Given the description of an element on the screen output the (x, y) to click on. 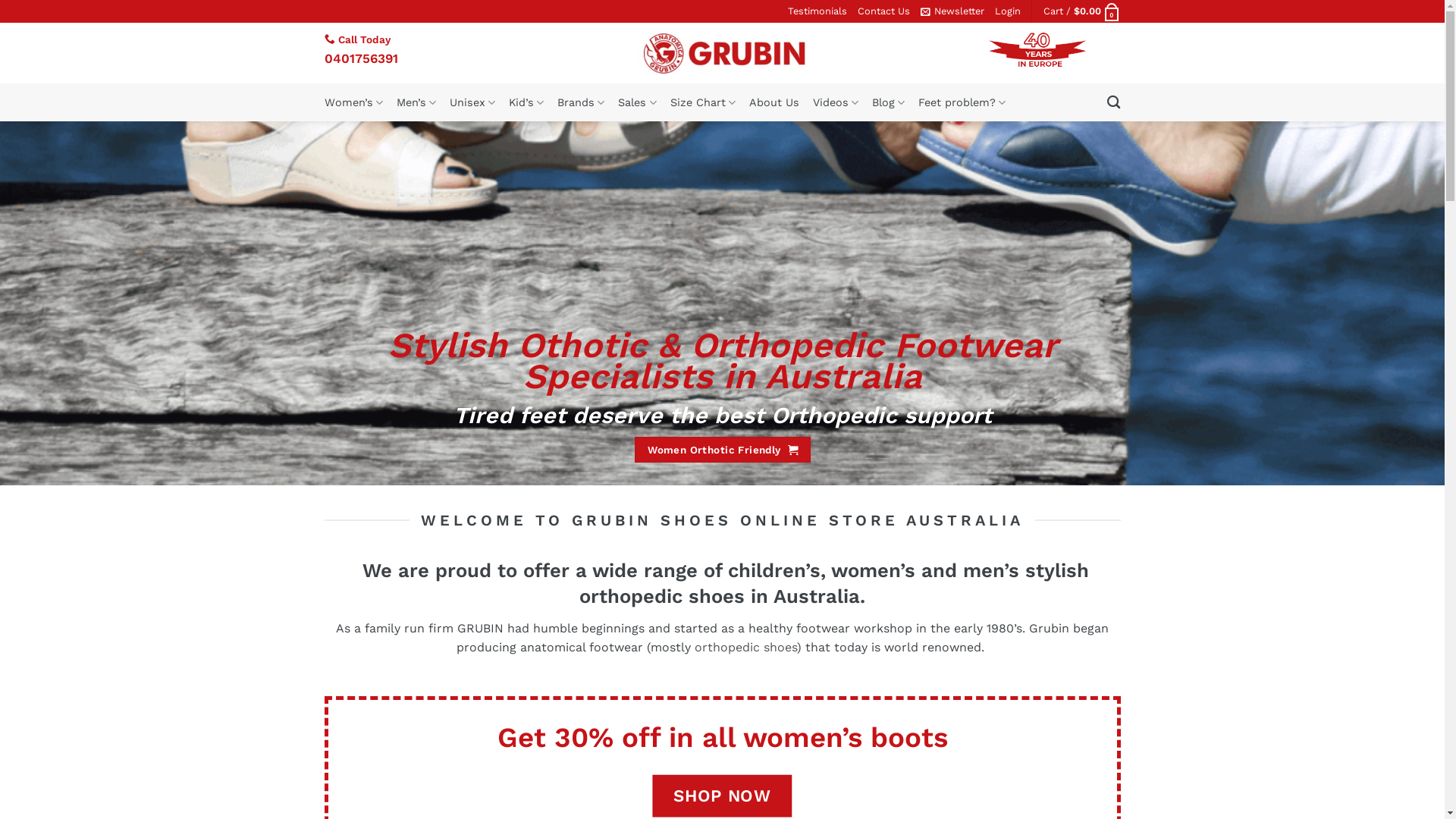
Cart / $0.00
0 Element type: text (1081, 11)
Testimonials Element type: text (816, 11)
Grubin Shoes Australia Element type: hover (721, 53)
Feet problem? Element type: text (961, 102)
Sales Element type: text (636, 102)
Blog Element type: text (888, 102)
Unisex Element type: text (472, 102)
About Us Element type: text (774, 102)
Brands Element type: text (580, 102)
Login Element type: text (1007, 11)
orthopedic shoes Element type: text (743, 647)
Contact Us Element type: text (882, 11)
SHOP NOW Element type: text (722, 796)
Newsletter Element type: text (952, 11)
0401756391 Element type: text (361, 57)
Women Orthotic Friendly Element type: text (722, 448)
Videos Element type: text (835, 102)
Size Chart Element type: text (702, 102)
